Given the description of an element on the screen output the (x, y) to click on. 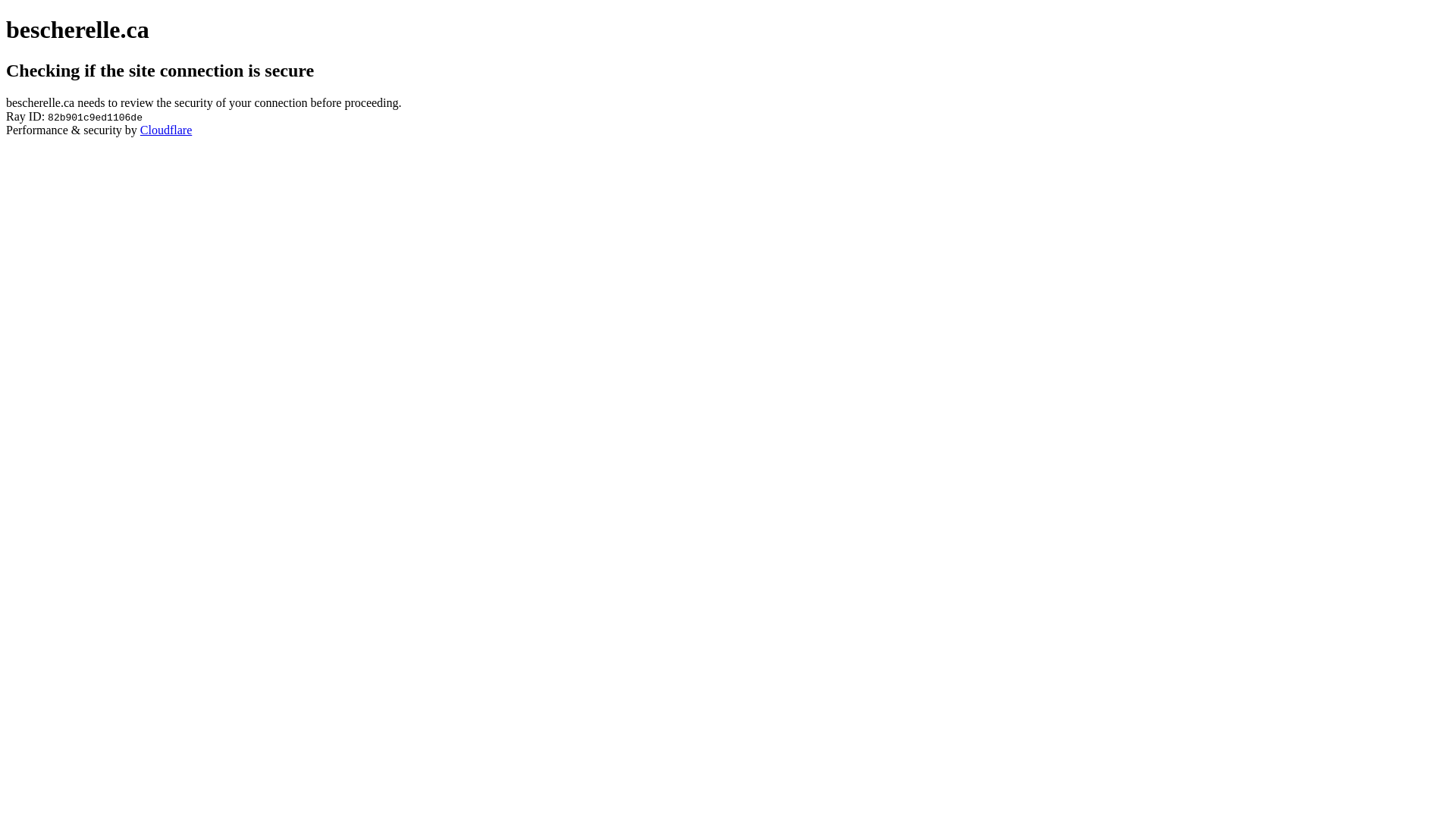
Cloudflare Element type: text (165, 129)
